Given the description of an element on the screen output the (x, y) to click on. 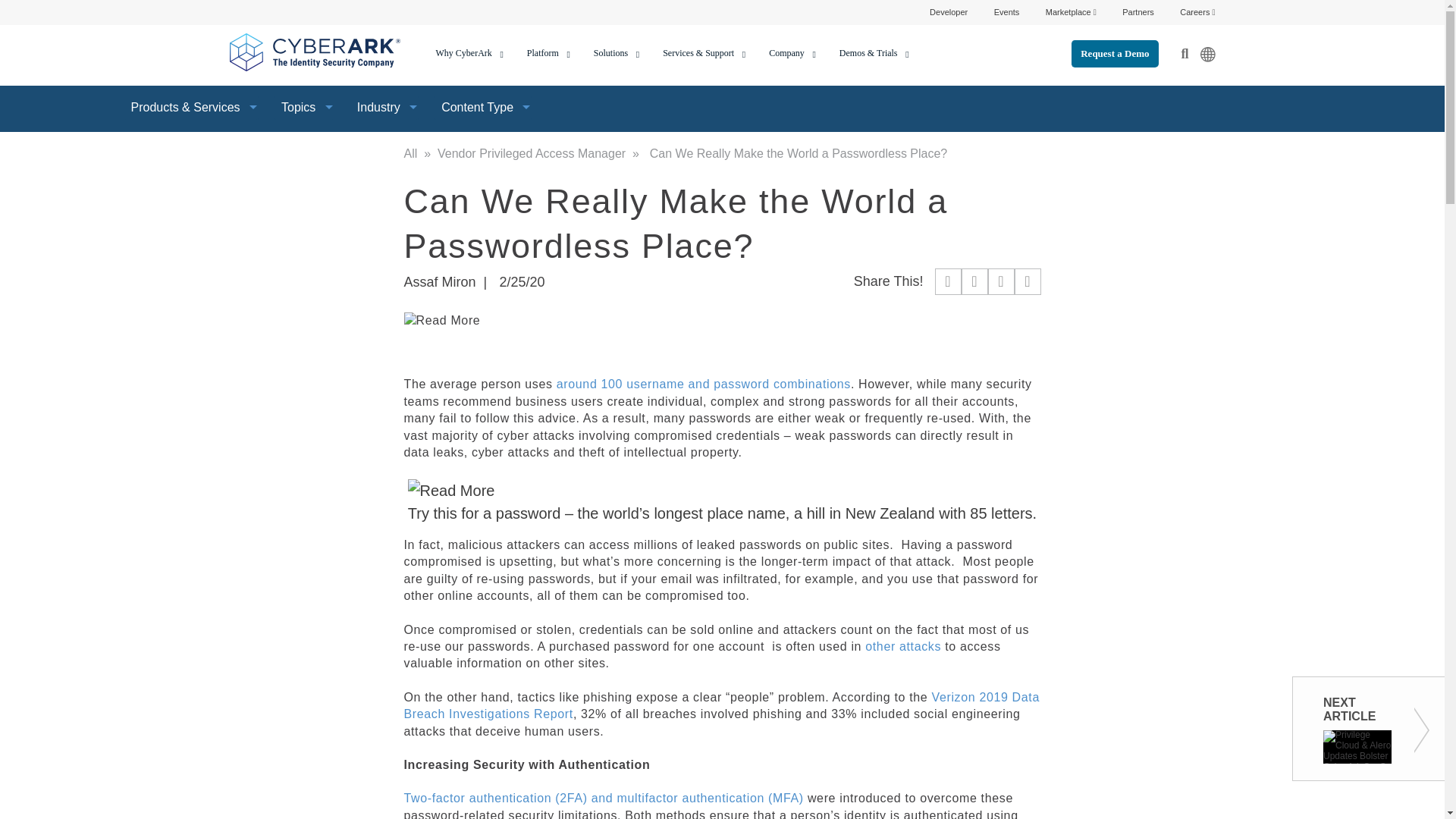
Developer (949, 11)
Careers (1196, 11)
Marketplace (1070, 11)
Partners (1138, 11)
Events (1007, 11)
